Given the description of an element on the screen output the (x, y) to click on. 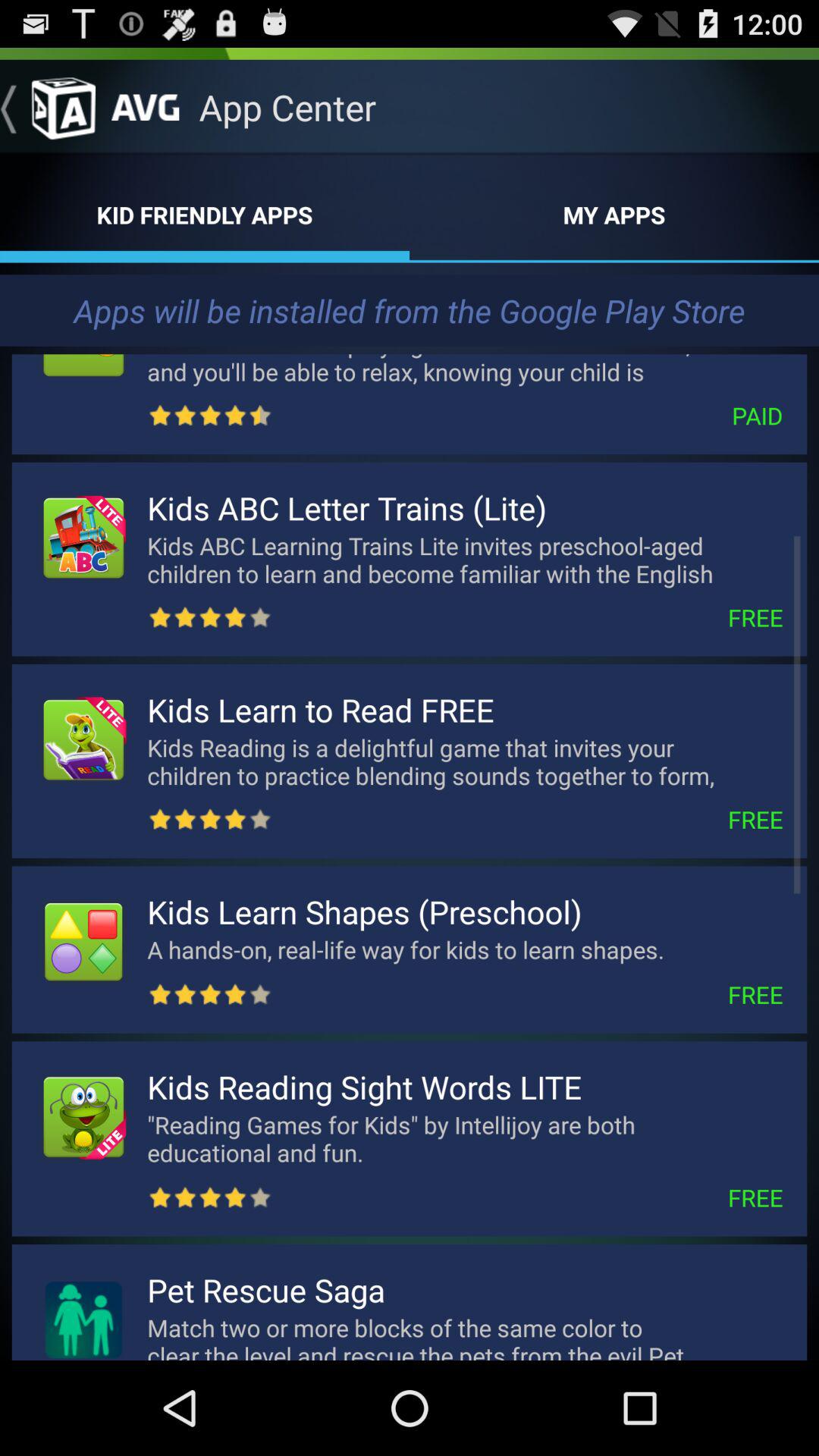
click on third frame from bottom (409, 949)
select the text kids abc letter trainslite (409, 559)
select the text avg left to the app center (145, 101)
